Given the description of an element on the screen output the (x, y) to click on. 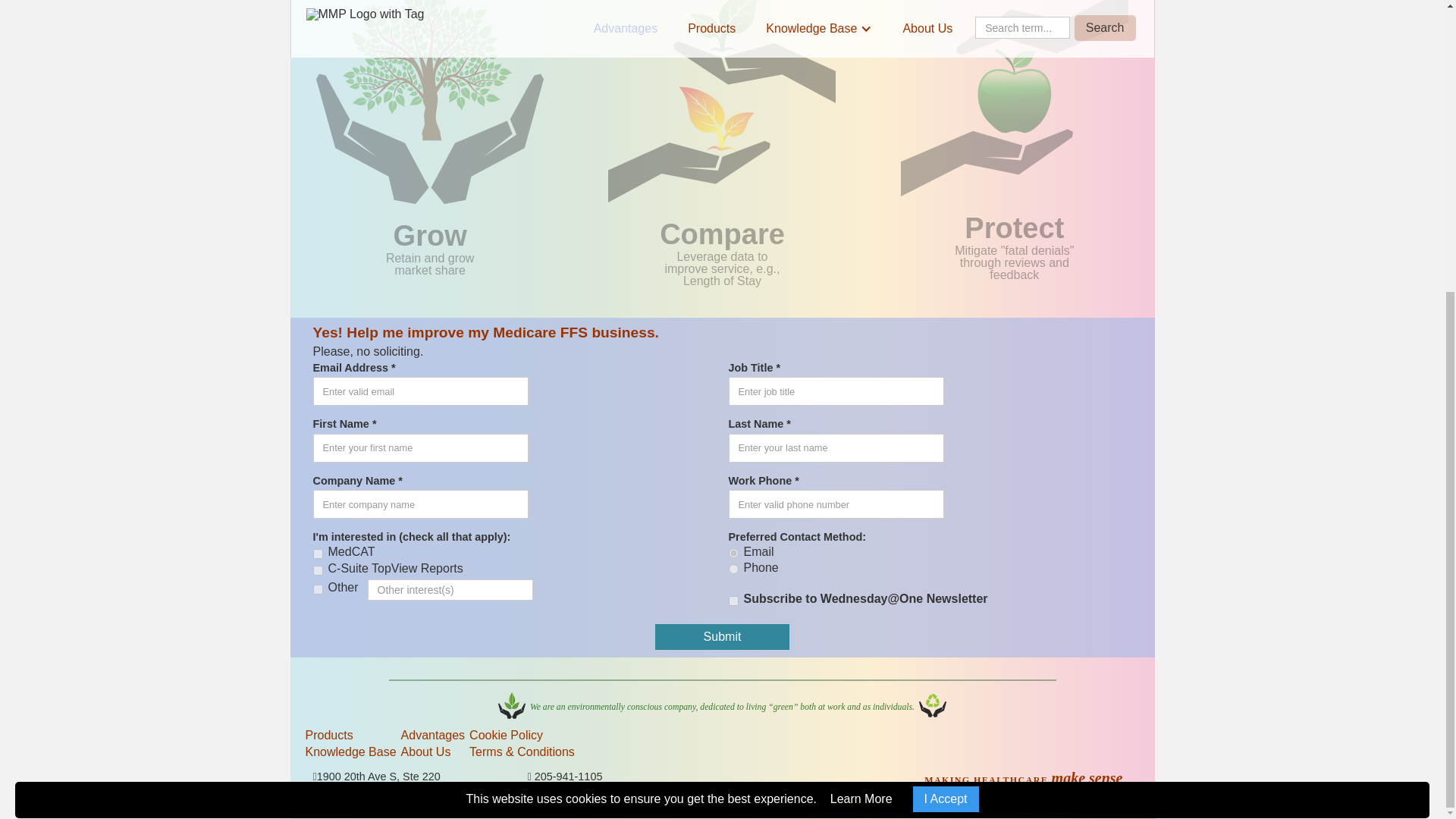
Compare (721, 101)
About Us (433, 752)
Submit (722, 637)
Knowledge Base (350, 752)
on (317, 553)
on (733, 601)
Advantages (433, 735)
Protect (1014, 98)
Learn More (860, 352)
I Accept (945, 353)
Phone (733, 569)
205-941-1105 (568, 776)
Cookie Policy (521, 735)
on (317, 570)
Products (350, 735)
